Given the description of an element on the screen output the (x, y) to click on. 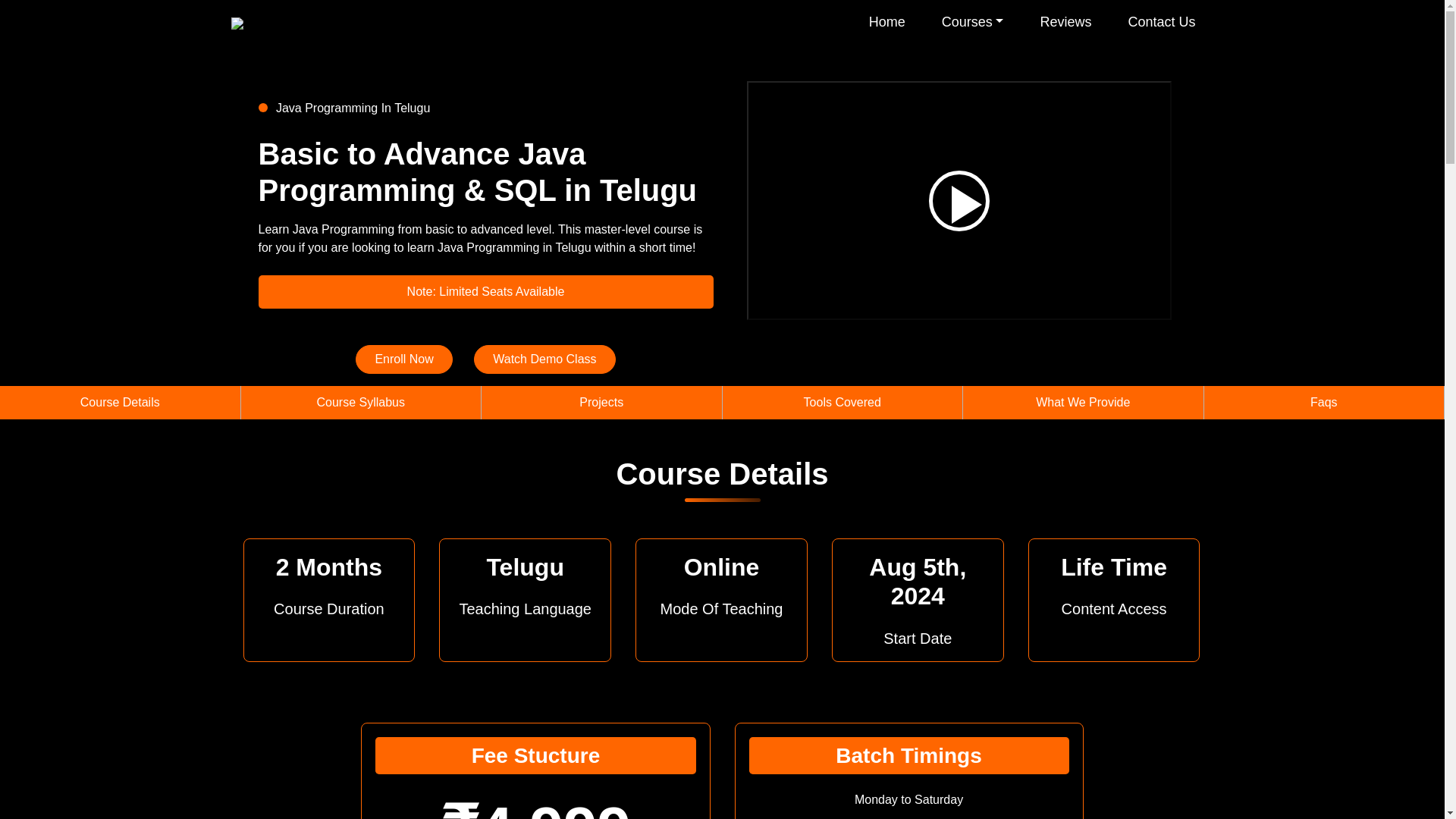
Reviews (1065, 21)
Contact Us (1160, 21)
Course Syllabus (361, 401)
Courses (972, 21)
Projects (601, 401)
Watch Demo Class (544, 358)
Faqs (1324, 401)
Home (886, 21)
Tools Covered (841, 401)
Course Details (120, 401)
